Given the description of an element on the screen output the (x, y) to click on. 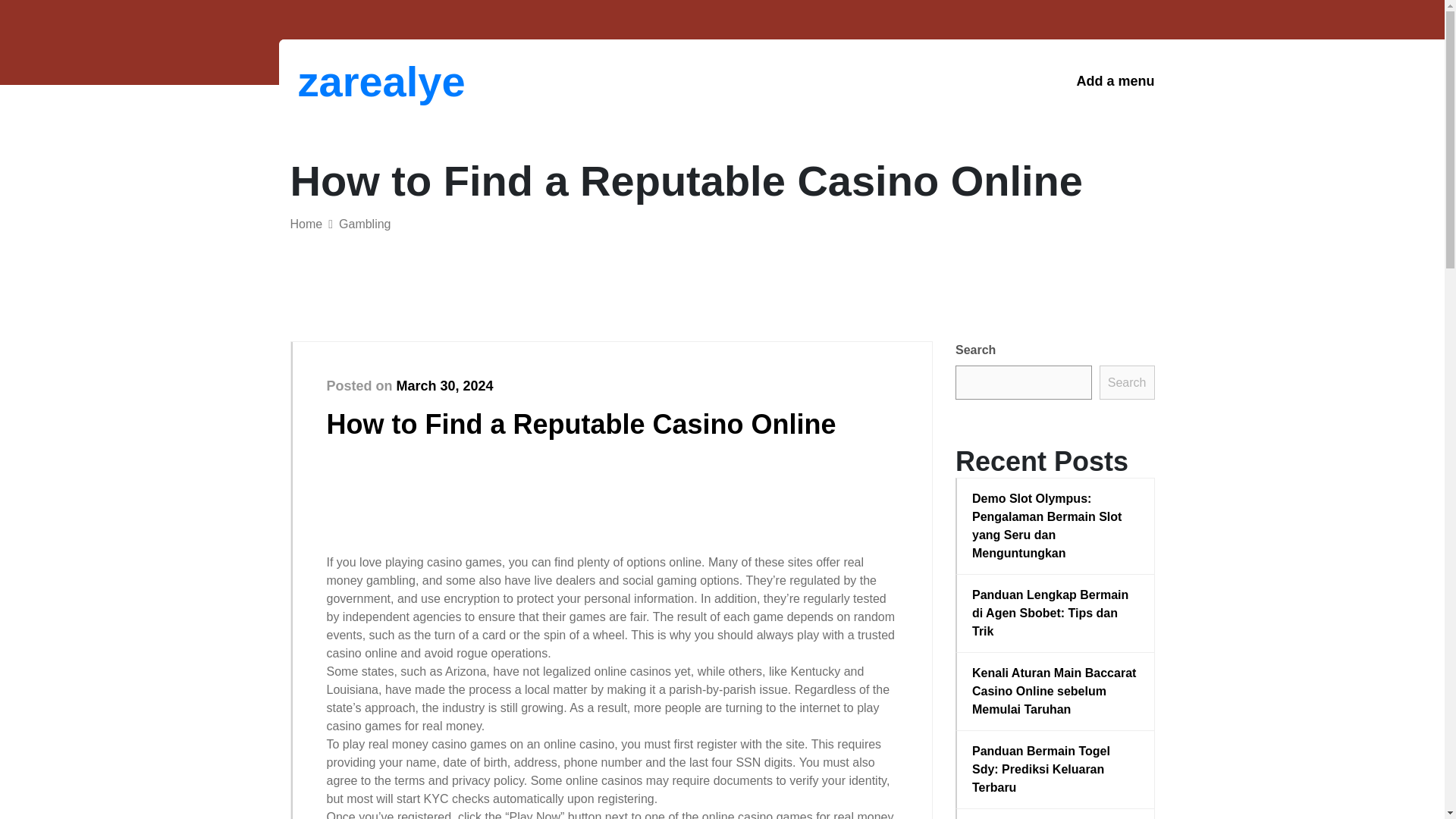
Home (305, 223)
Panduan Lengkap Bermain di Agen Sbobet: Tips dan Trik (1055, 613)
Panduan Bermain Togel Sdy: Prediksi Keluaran Terbaru (1055, 769)
Search (1126, 382)
zarealye (376, 81)
Add a menu (1114, 81)
March 30, 2024 (444, 385)
How to Find a Reputable Casino Online (580, 423)
Gambling (364, 223)
